Given the description of an element on the screen output the (x, y) to click on. 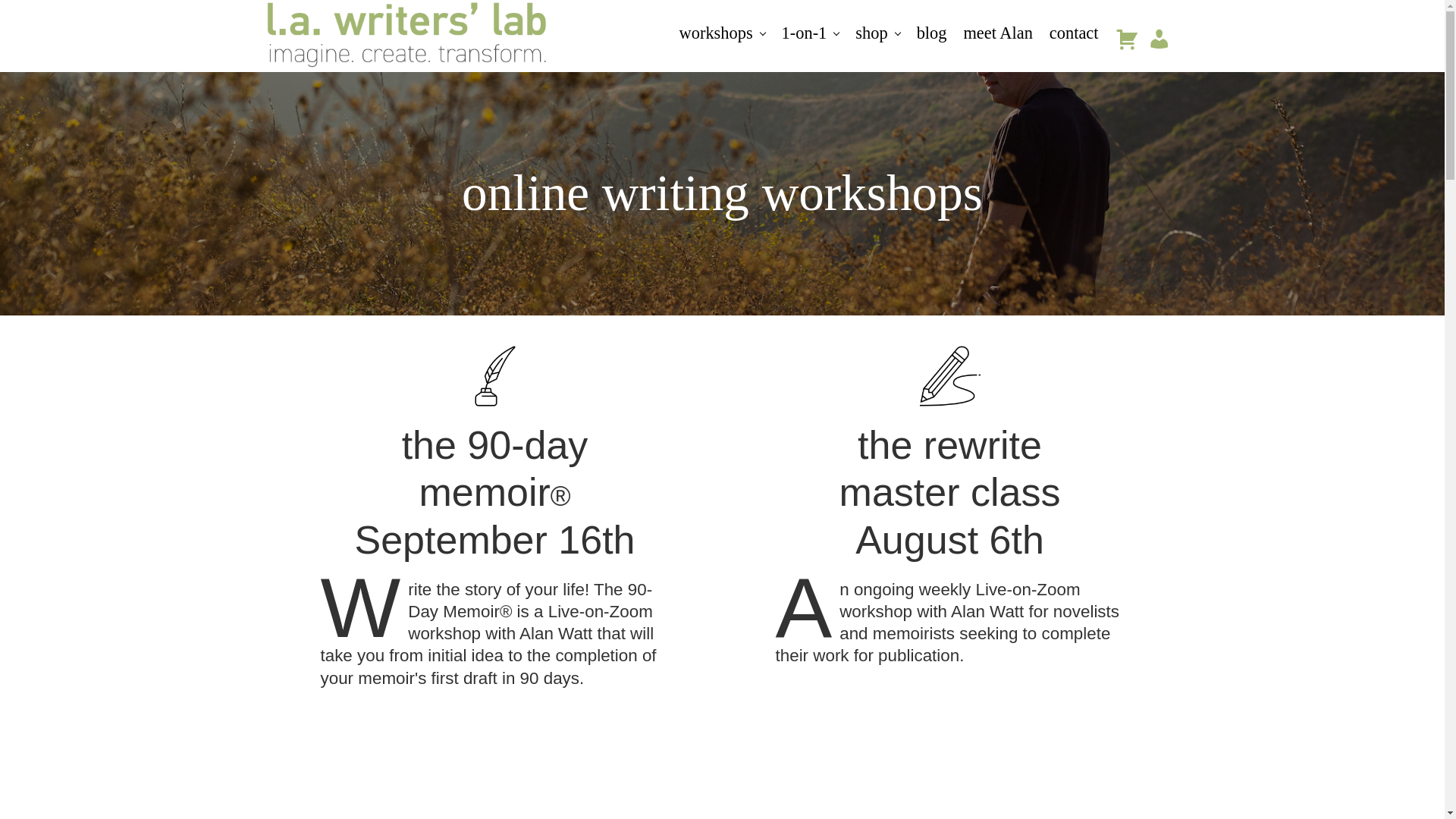
meet Alan (997, 33)
contact (1073, 33)
rewrite (948, 375)
1-on-1 (809, 33)
shop (876, 33)
workshops (721, 33)
memoir (494, 375)
blog (931, 33)
